Given the description of an element on the screen output the (x, y) to click on. 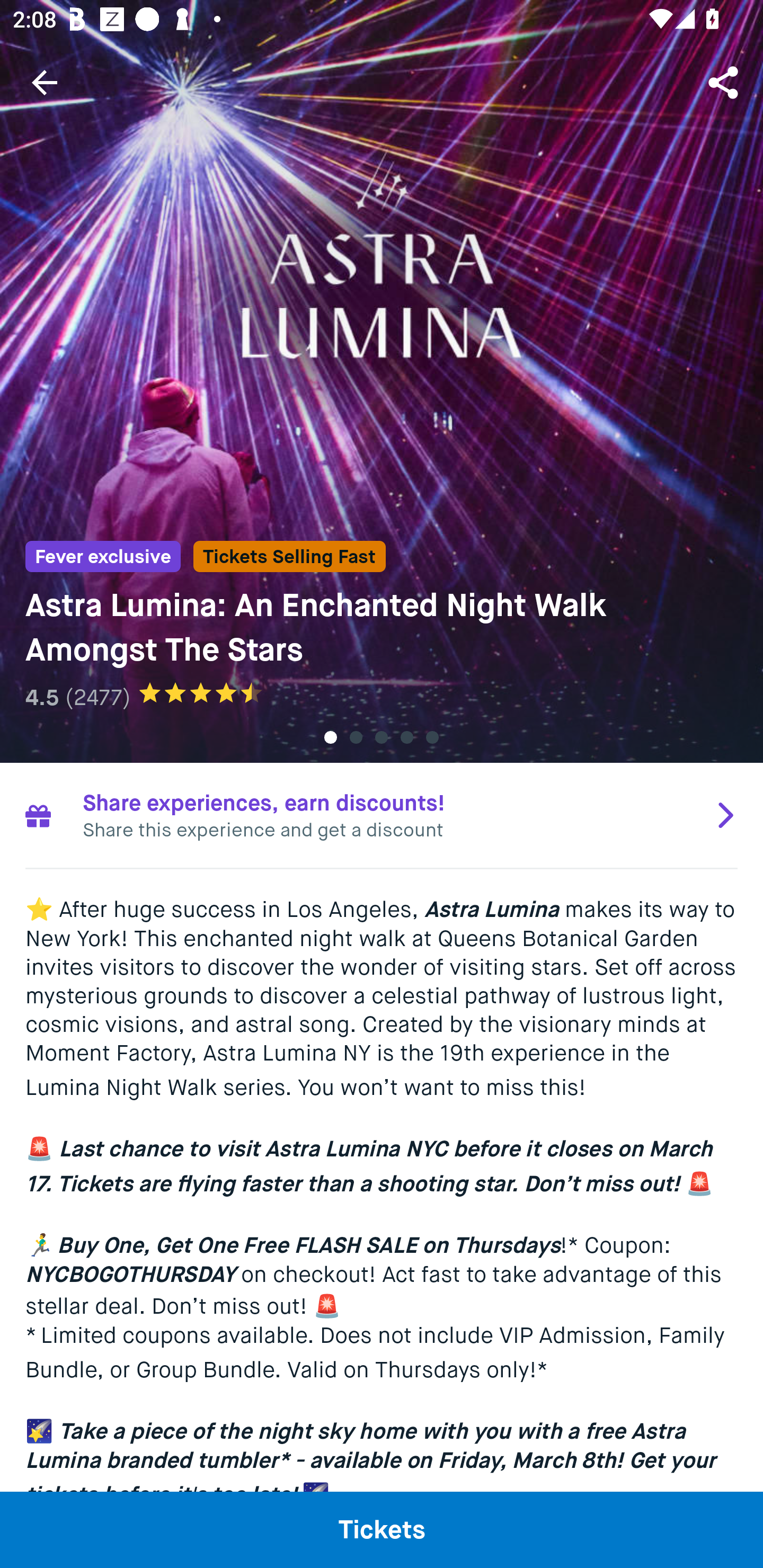
Navigate up (44, 82)
Share (724, 81)
(2477) (97, 697)
Tickets (381, 1529)
